Given the description of an element on the screen output the (x, y) to click on. 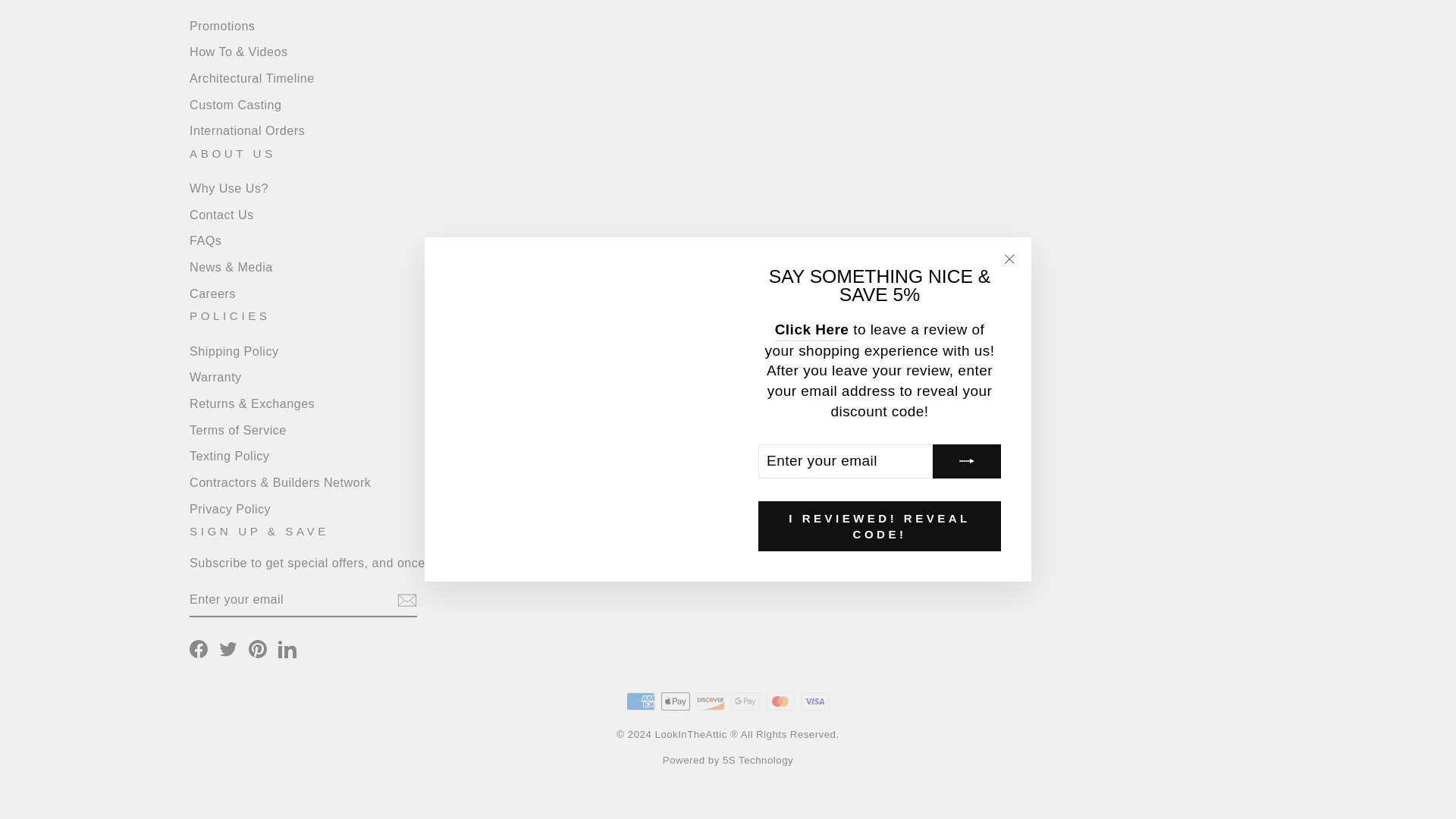
Apple Pay (675, 701)
Visa (814, 701)
Google Pay (745, 701)
American Express (640, 701)
Discover (710, 701)
Mastercard (779, 701)
